Given the description of an element on the screen output the (x, y) to click on. 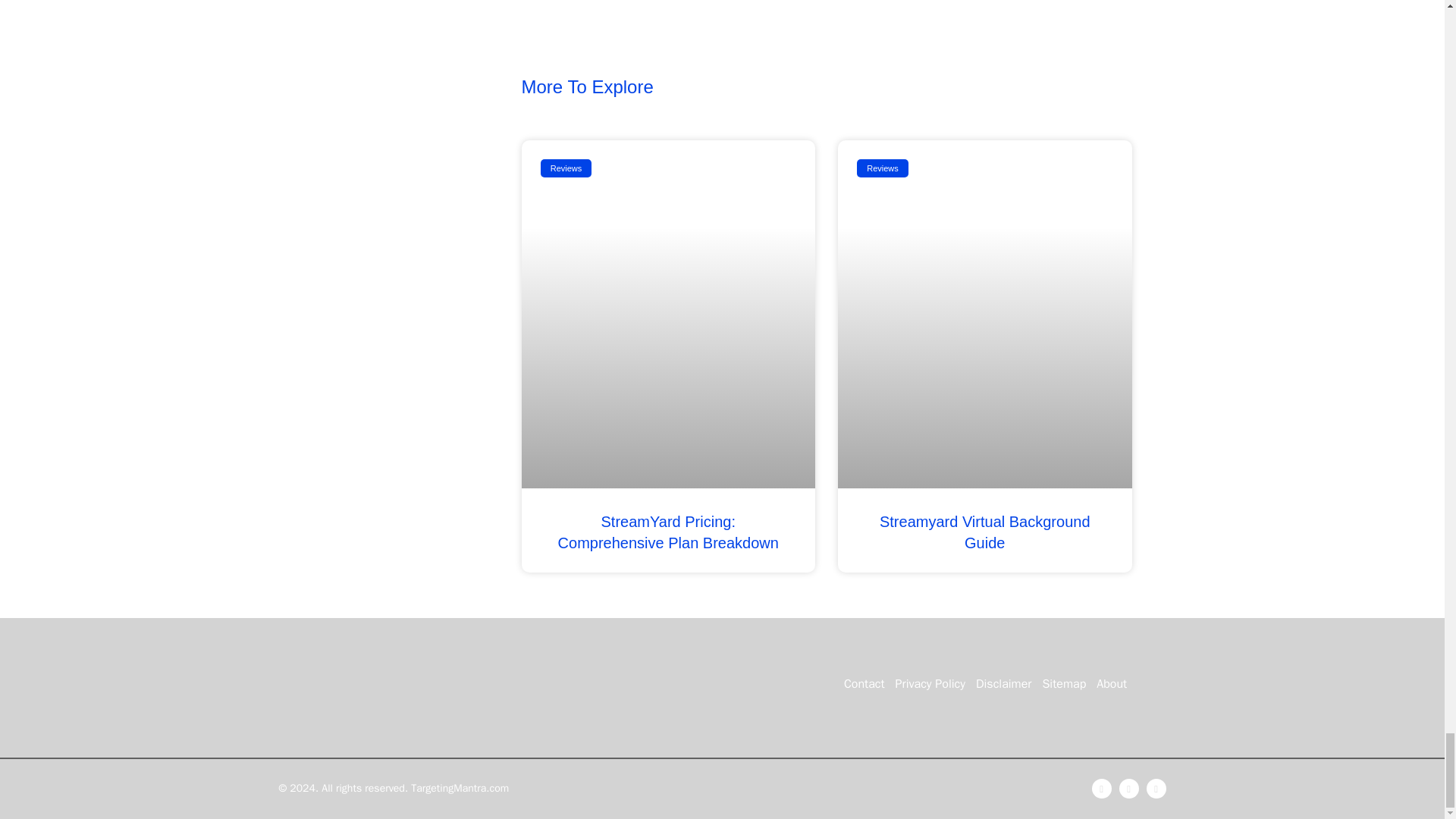
Streamyard Virtual Background Guide (984, 532)
Contact (863, 683)
Sitemap (1063, 683)
About (1111, 683)
Disclaimer (1003, 683)
StreamYard Pricing: Comprehensive Plan Breakdown (667, 532)
Privacy Policy (930, 683)
